Given the description of an element on the screen output the (x, y) to click on. 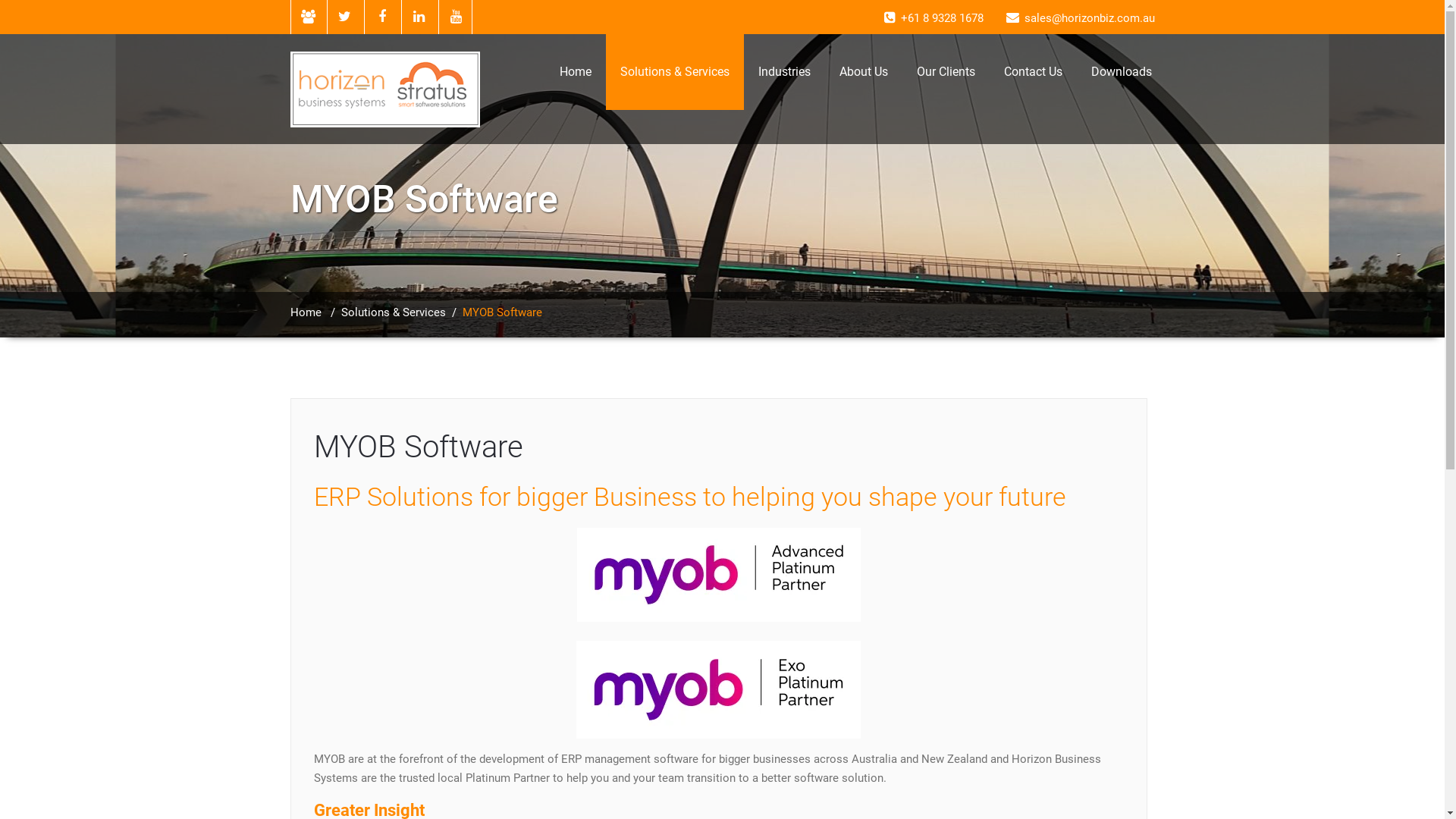
Industries Element type: text (783, 71)
Our Clients Element type: text (945, 71)
Contact Us Element type: text (1032, 71)
Home Element type: text (304, 312)
MYOB Software Element type: text (418, 446)
Solutions & Services Element type: text (393, 312)
Home Element type: text (574, 71)
Contact Horizon's Live Support
(via TeamViewer) Element type: hover (308, 17)
About Us Element type: text (863, 71)
Downloads Element type: text (1121, 71)
Solutions & Services Element type: text (674, 71)
